Given the description of an element on the screen output the (x, y) to click on. 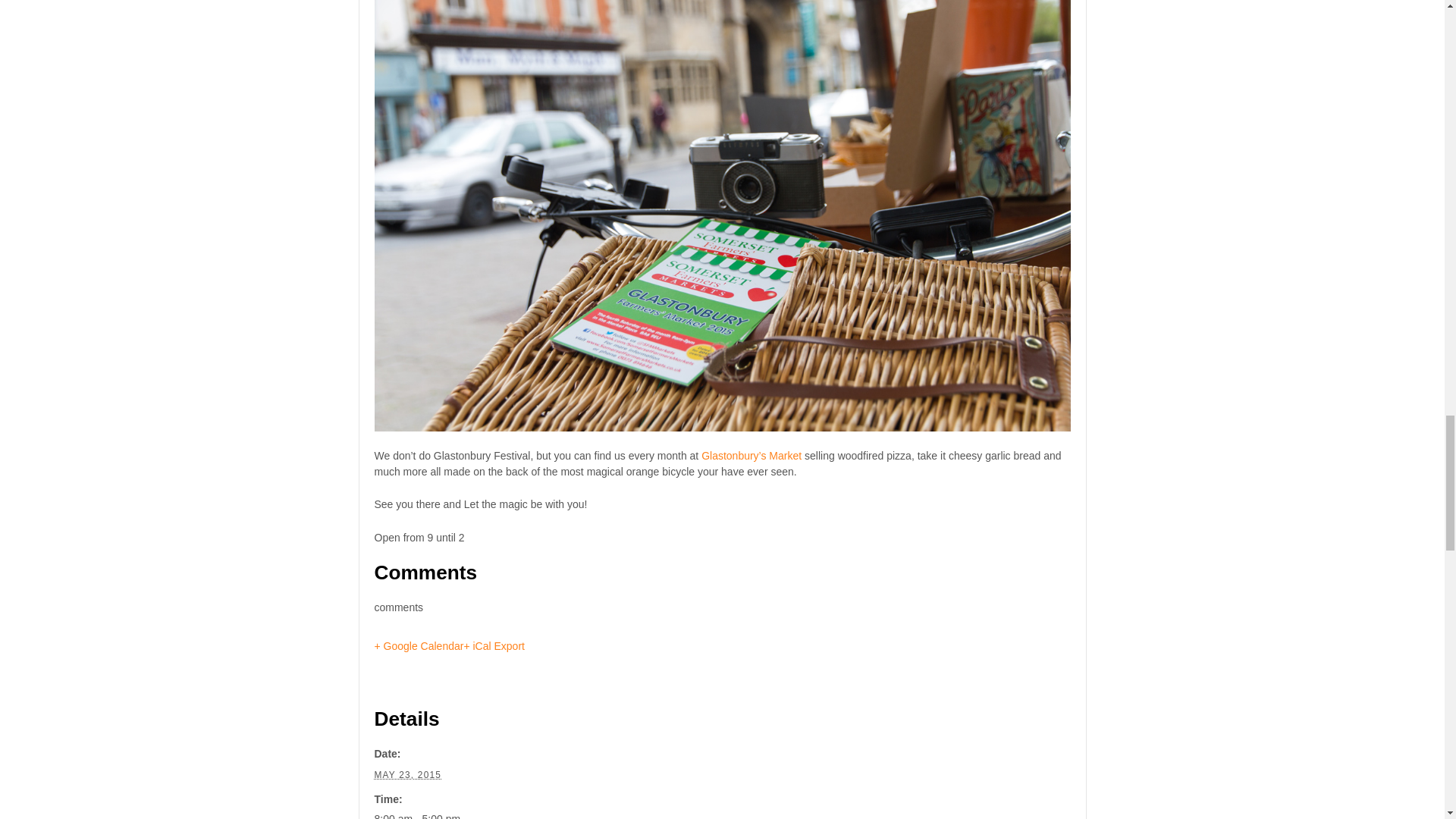
Add to Google Calendar (419, 645)
Download .ics file (493, 645)
2015-05-23 (408, 774)
